Given the description of an element on the screen output the (x, y) to click on. 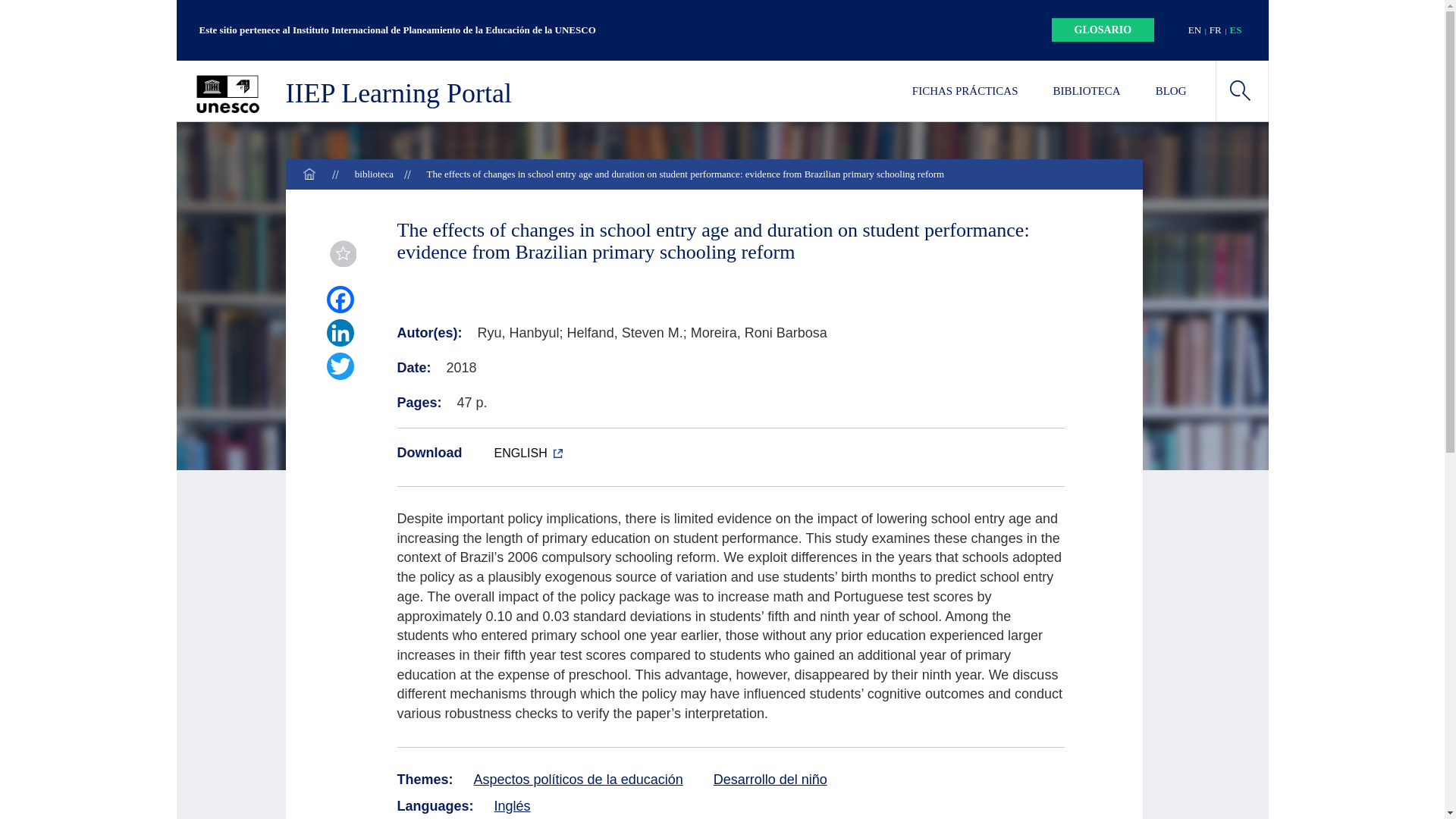
Facebook (338, 298)
EN (1194, 30)
IIEP Learning Portal (356, 93)
ENGLISH (528, 452)
ES (1235, 30)
FR (1215, 30)
LinkedIn (338, 332)
Inicio (356, 93)
GLOSARIO (1102, 29)
Inicio (309, 173)
BIBLIOTECA (1085, 90)
Twitter (338, 366)
